Given the description of an element on the screen output the (x, y) to click on. 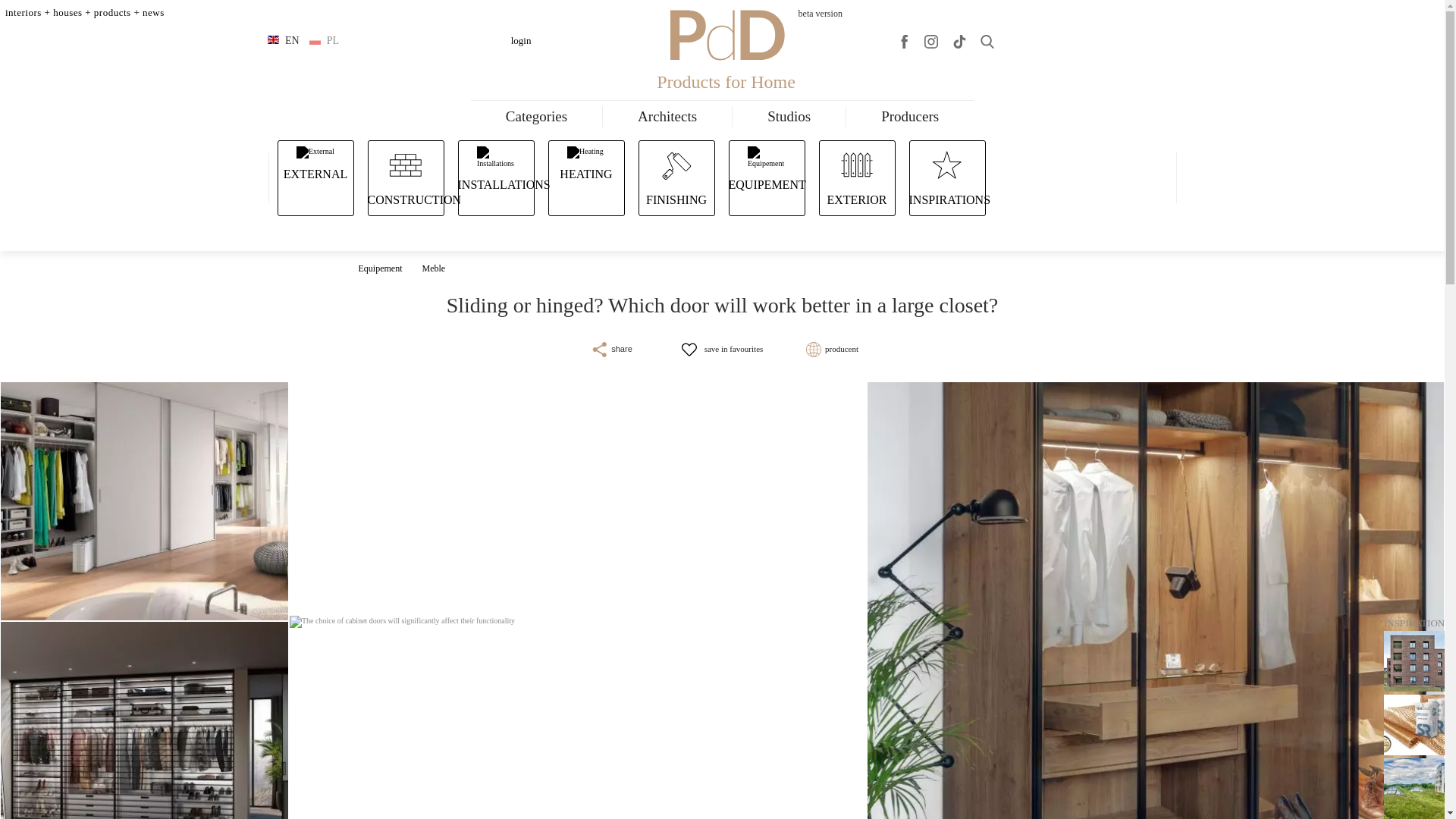
Architects (667, 116)
Home products - home page (697, 31)
EXTERNAL (314, 177)
instagram (931, 41)
Home products - home page (724, 31)
INSPIRATIONS (947, 177)
wyszukiwarka (986, 41)
TikTok (959, 41)
